Given the description of an element on the screen output the (x, y) to click on. 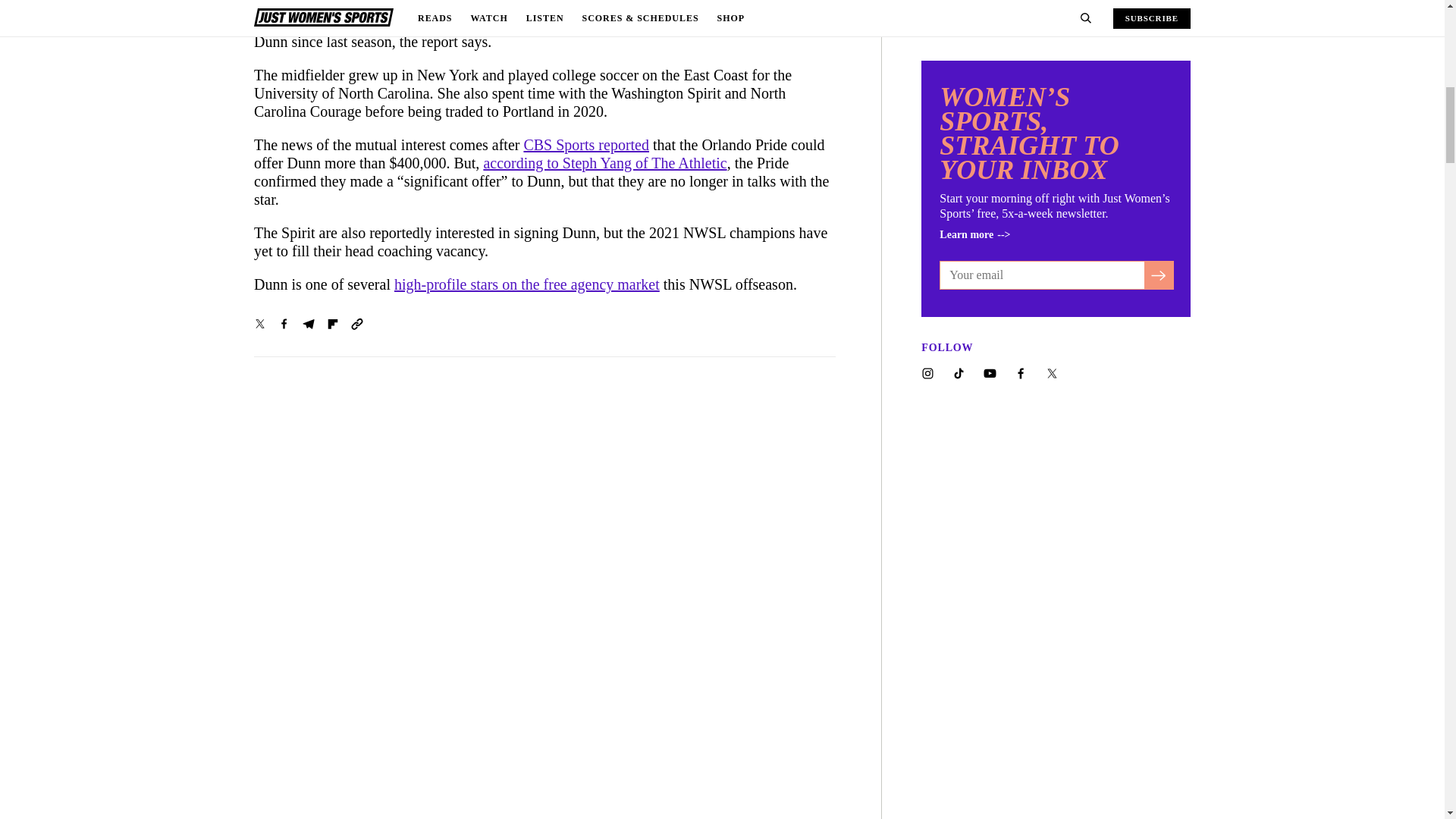
would not return to Portland (390, 6)
according to The Equalizer (601, 6)
according to Steph Yang of The Athletic (604, 162)
high-profile stars on the free agency market (526, 284)
CBS Sports reported (585, 144)
